Given the description of an element on the screen output the (x, y) to click on. 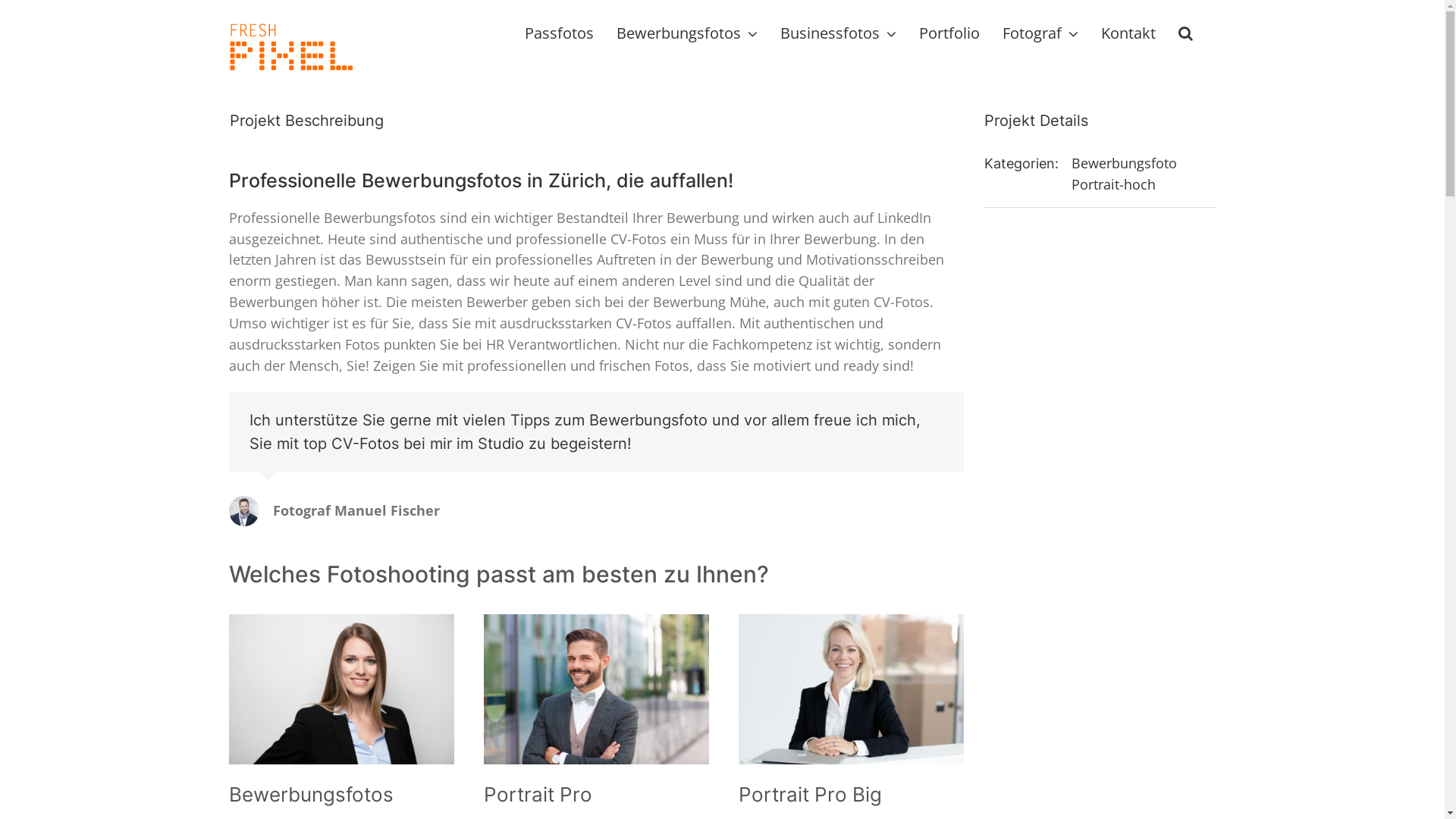
Bewerbungsfoto Element type: text (1123, 162)
Bewerbungsfotos Element type: text (685, 31)
Suche Element type: hover (1185, 31)
Portfolio Element type: text (949, 31)
Kontakt Element type: text (1128, 31)
Fotograf Element type: text (1040, 31)
Businessfotos Element type: text (837, 31)
Passfotos Element type: text (558, 31)
Portrait-hoch Element type: text (1113, 184)
